Given the description of an element on the screen output the (x, y) to click on. 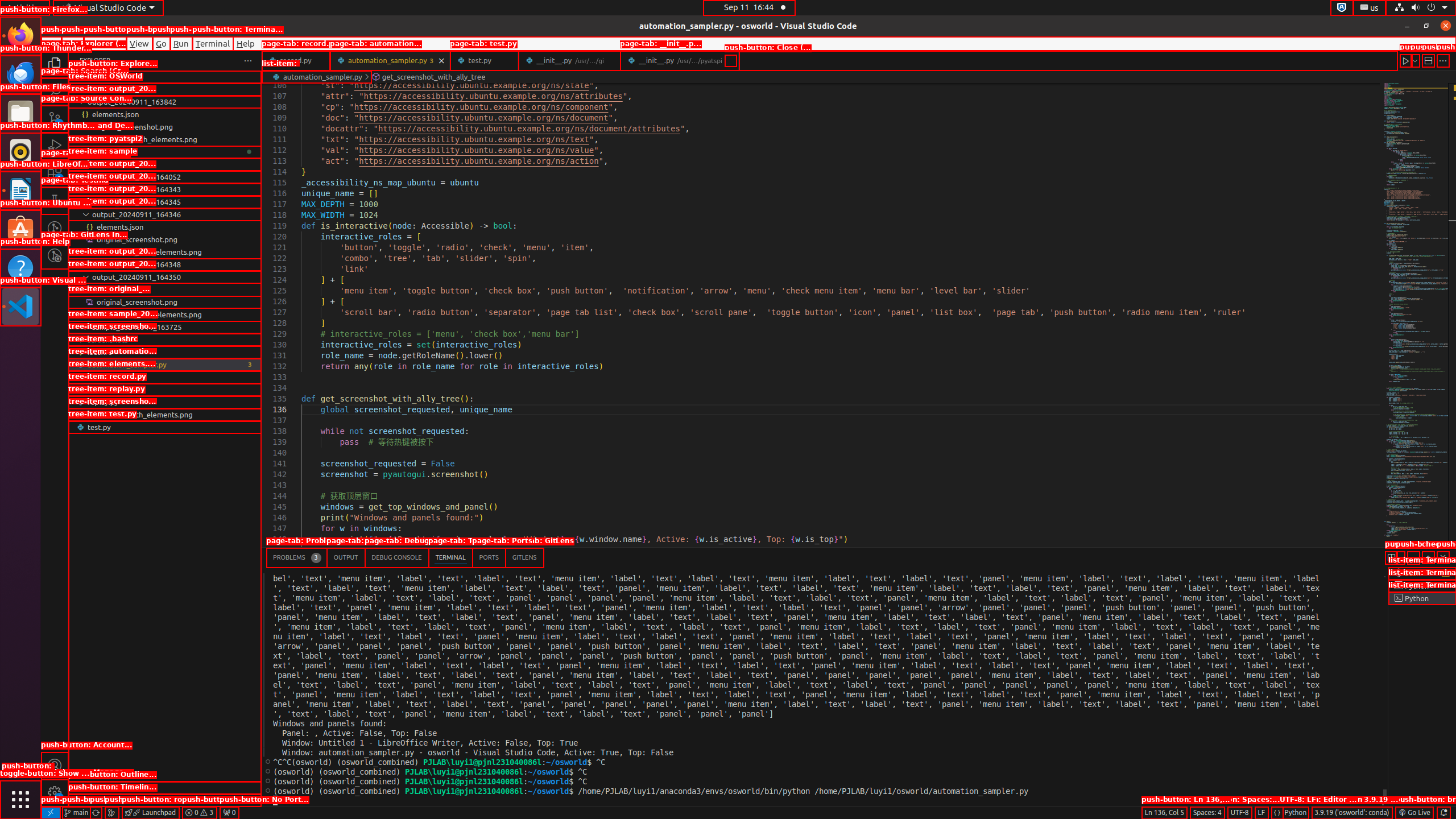
rocket gitlens-unplug Launchpad, GitLens Launchpad ᴘʀᴇᴠɪᴇᴡ    &mdash;    [$(question)](command:gitlens.launchpad.indicator.action?%22info%22 "What is this?") [$(gear)](command:workbench.action.openSettings?%22gitlens.launchpad%22 "Settings")  |  [$(circle-slash) Hide](command:gitlens.launchpad.indicator.action?%22hide%22 "Hide") --- [Launchpad](command:gitlens.launchpad.indicator.action?%info%22 "Learn about Launchpad") organizes your pull requests into actionable groups to help you focus and keep your team unblocked. It's always accessible using the `GitLens: Open Launchpad` command from the Command Palette. --- [Connect an integration](command:gitlens.showLaunchpad?%7B%22source%22%3A%22launchpad-indicator%22%7D "Connect an integration") to get started. Element type: push-button (150, 812)
replay.py Element type: tree-item (164, 401)
broadcast Go Live, Click to run live server Element type: push-button (1414, 812)
Ln 136, Col 5 Element type: push-button (1163, 812)
